Given the description of an element on the screen output the (x, y) to click on. 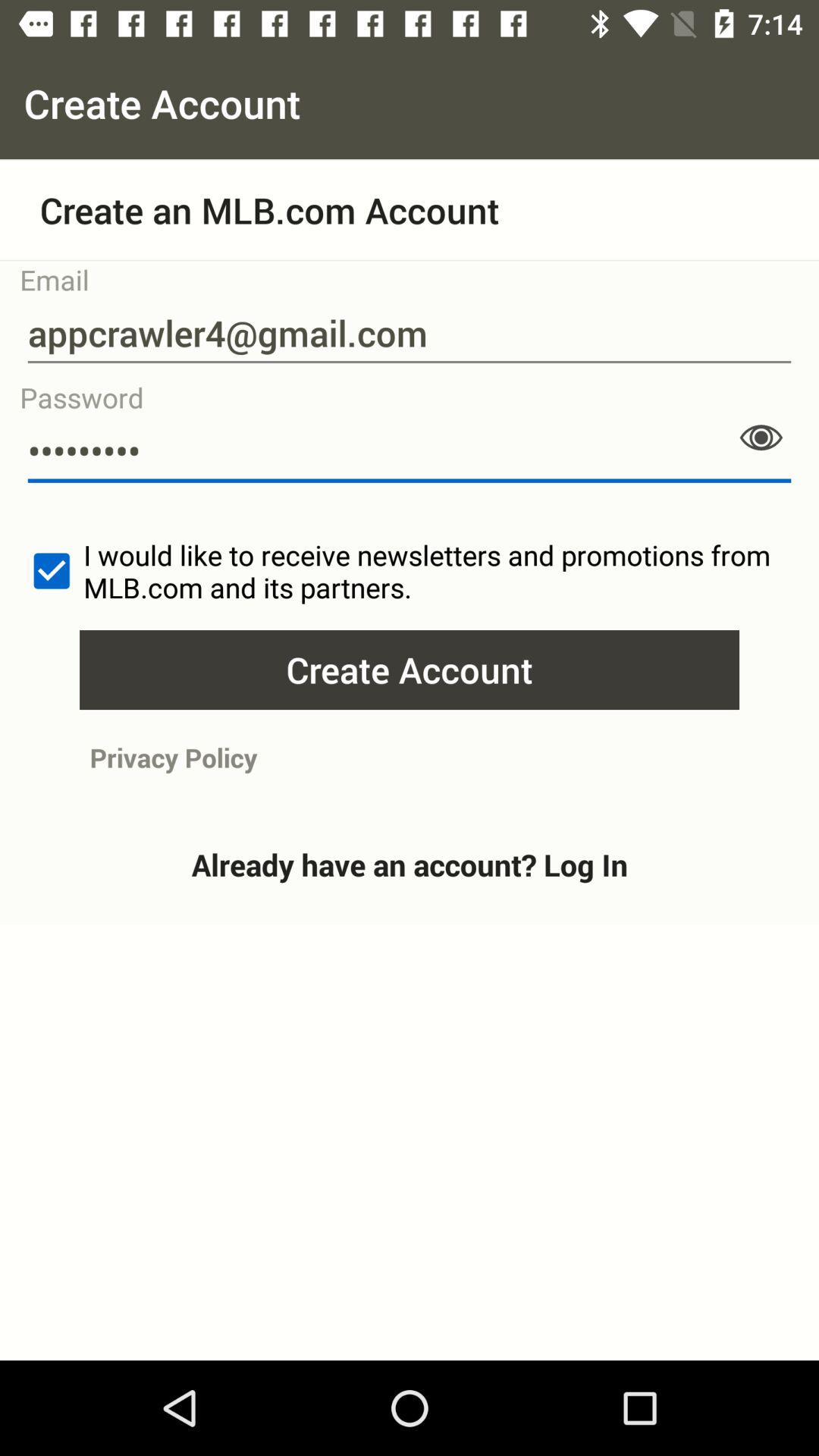
show password (761, 437)
